Given the description of an element on the screen output the (x, y) to click on. 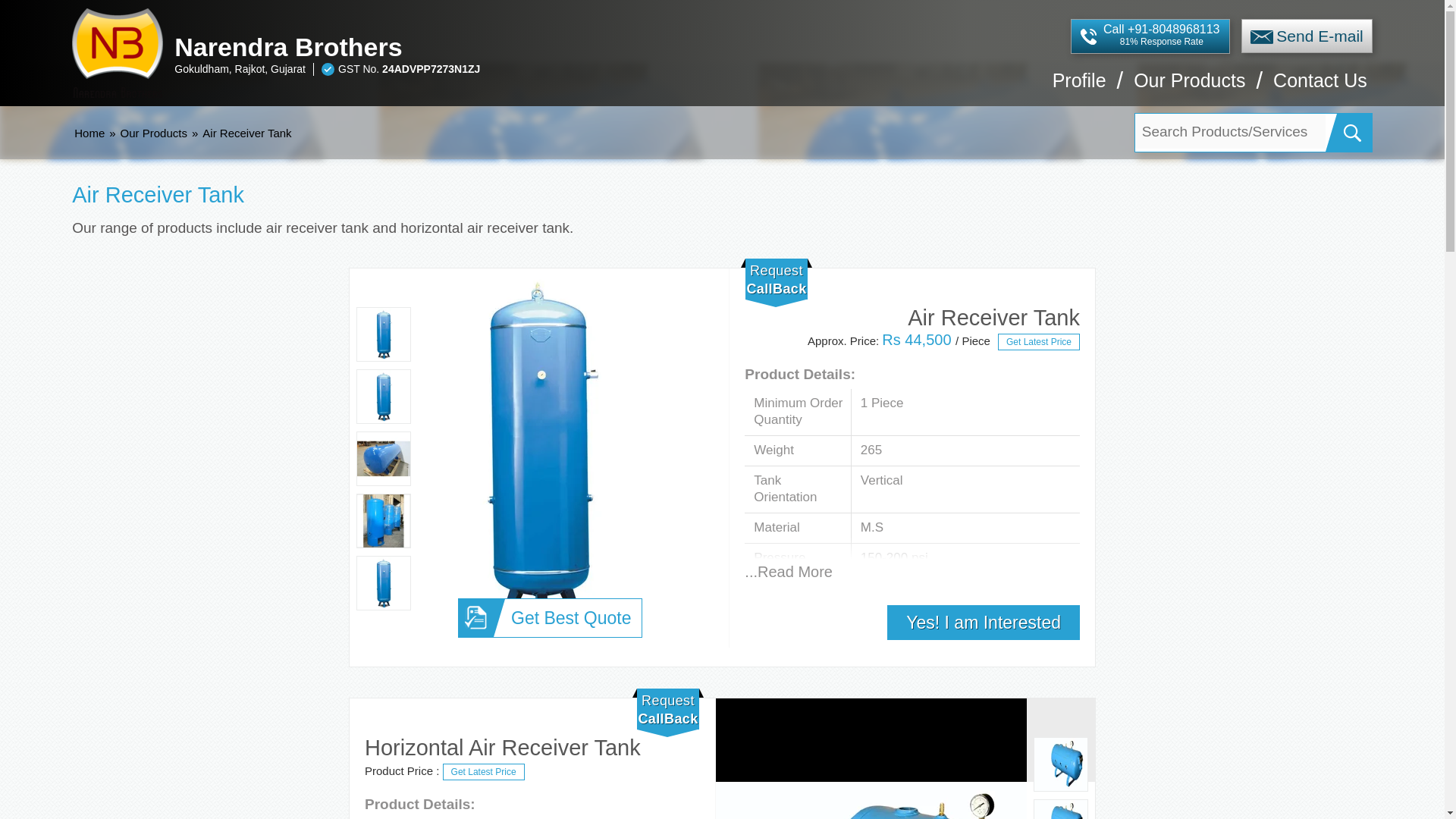
Our Products (153, 132)
Home (89, 132)
Narendra Brothers (512, 46)
Profile (1079, 88)
Our Products (1189, 88)
Contact Us (1319, 88)
